Given the description of an element on the screen output the (x, y) to click on. 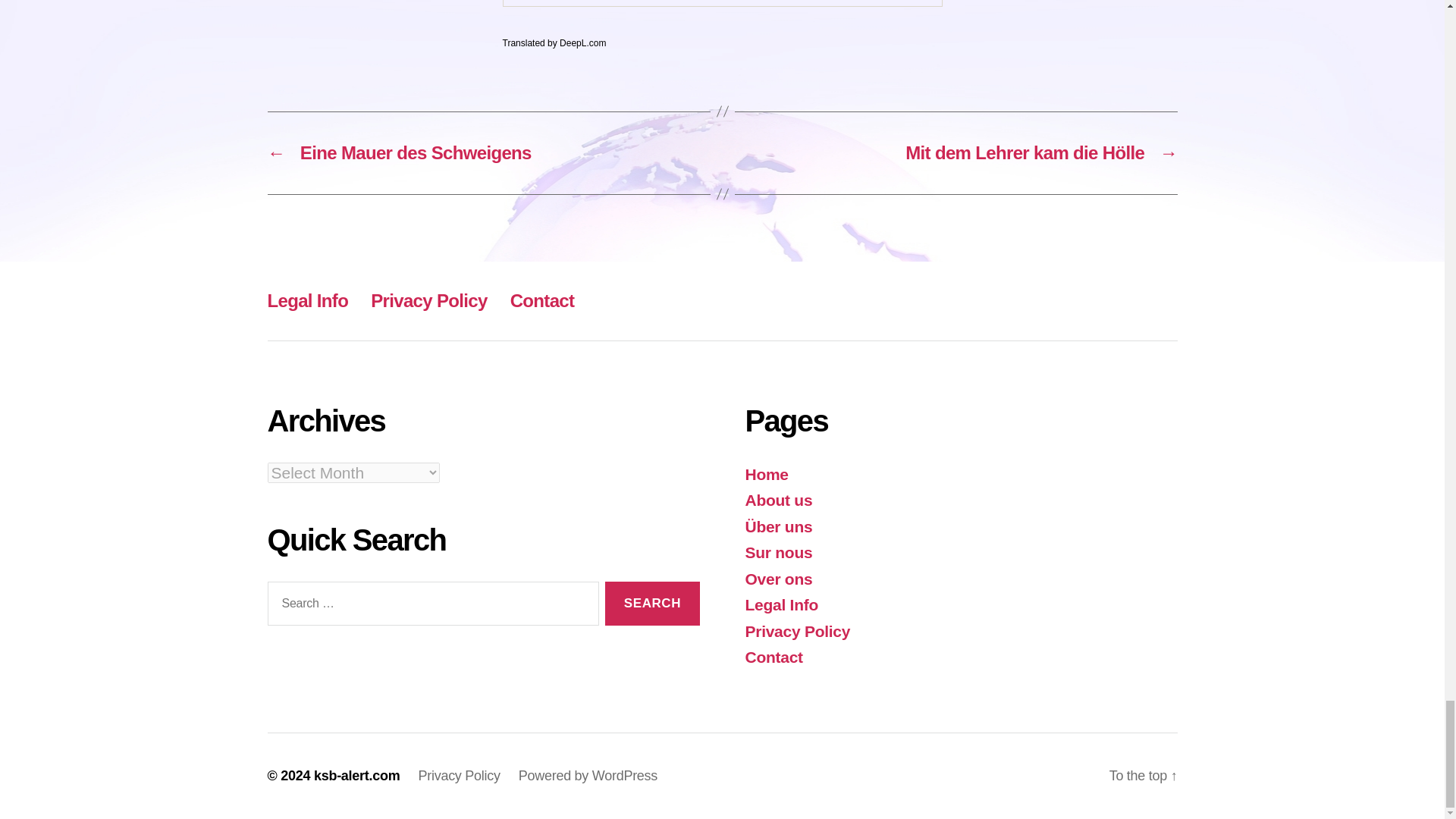
Home (765, 474)
Search (651, 603)
About us (778, 499)
Search (651, 603)
Search (651, 603)
Legal Info (306, 300)
Privacy Policy (428, 300)
Sur nous (778, 552)
Contact (543, 300)
